Given the description of an element on the screen output the (x, y) to click on. 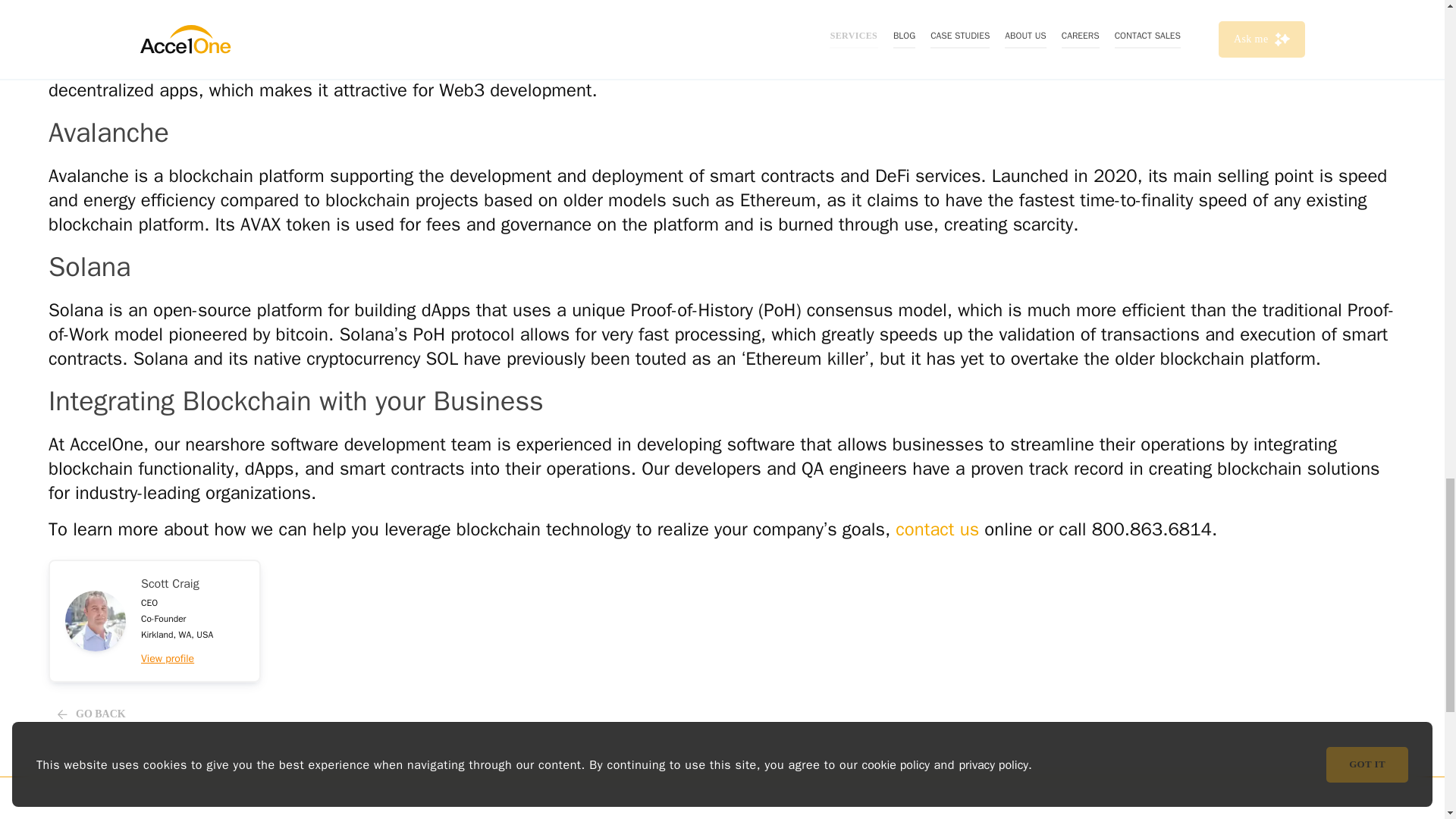
GO BACK (154, 620)
contact us (169, 714)
